Given the description of an element on the screen output the (x, y) to click on. 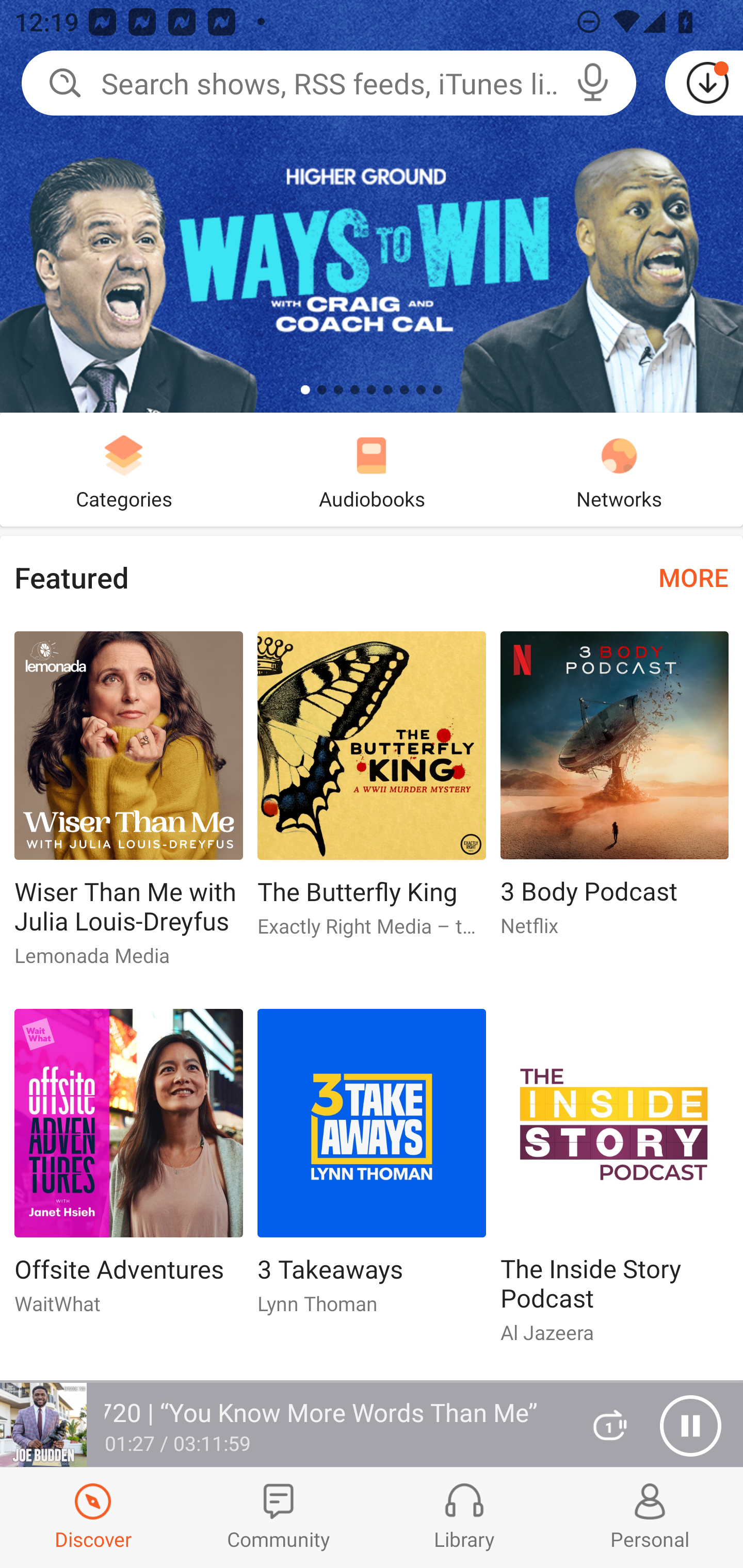
Ways To Win (371, 206)
Categories (123, 469)
Audiobooks (371, 469)
Networks (619, 469)
MORE (693, 576)
3 Body Podcast 3 Body Podcast Netflix (614, 792)
Offsite Adventures Offsite Adventures WaitWhat (128, 1169)
3 Takeaways 3 Takeaways Lynn Thoman (371, 1169)
Pause (690, 1425)
Discover (92, 1517)
Community (278, 1517)
Library (464, 1517)
Profiles and Settings Personal (650, 1517)
